Given the description of an element on the screen output the (x, y) to click on. 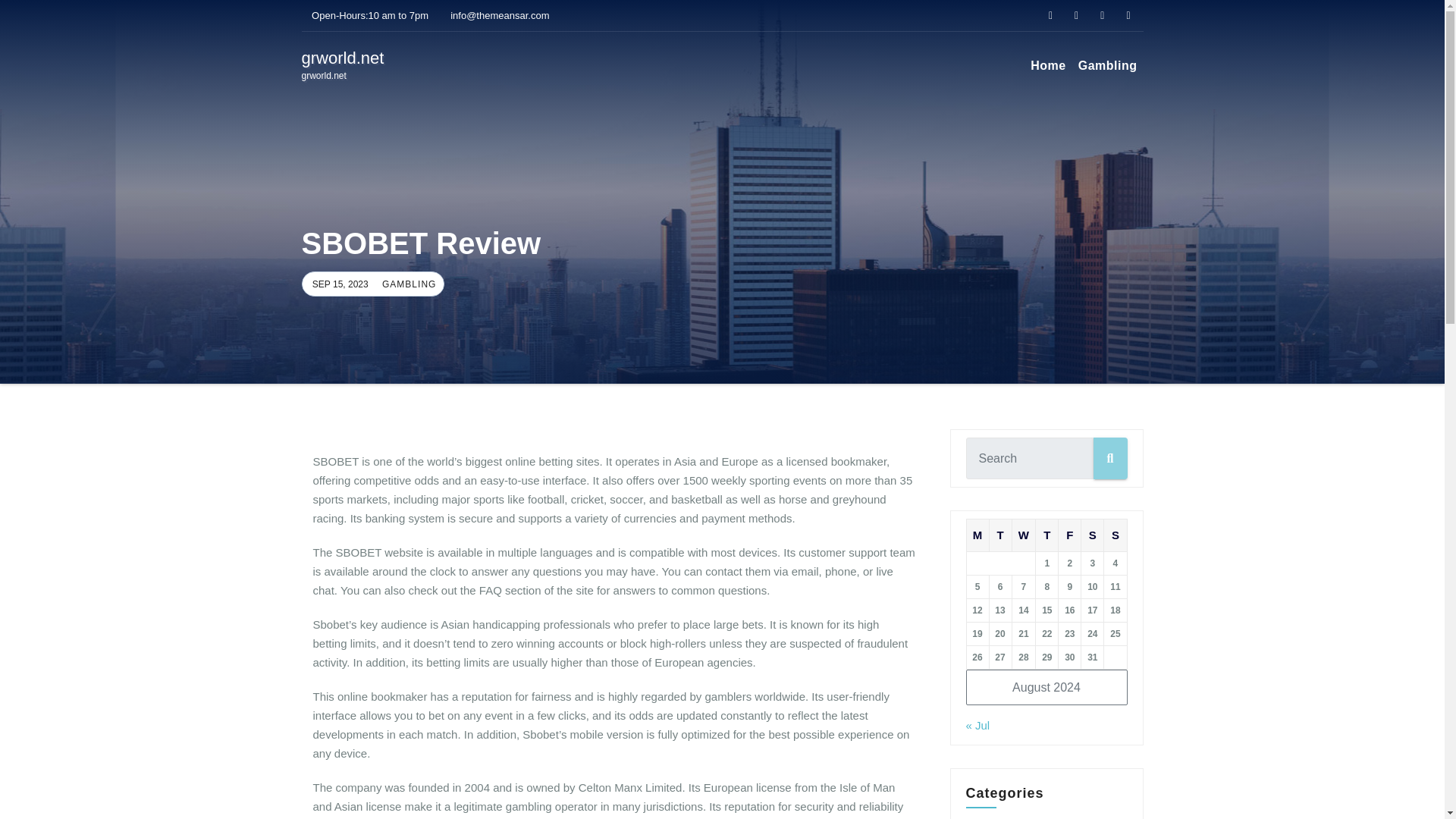
Gambling (1106, 65)
GAMBLING (406, 284)
Gambling (342, 65)
Open-Hours:10 am to 7pm (1106, 65)
